Given the description of an element on the screen output the (x, y) to click on. 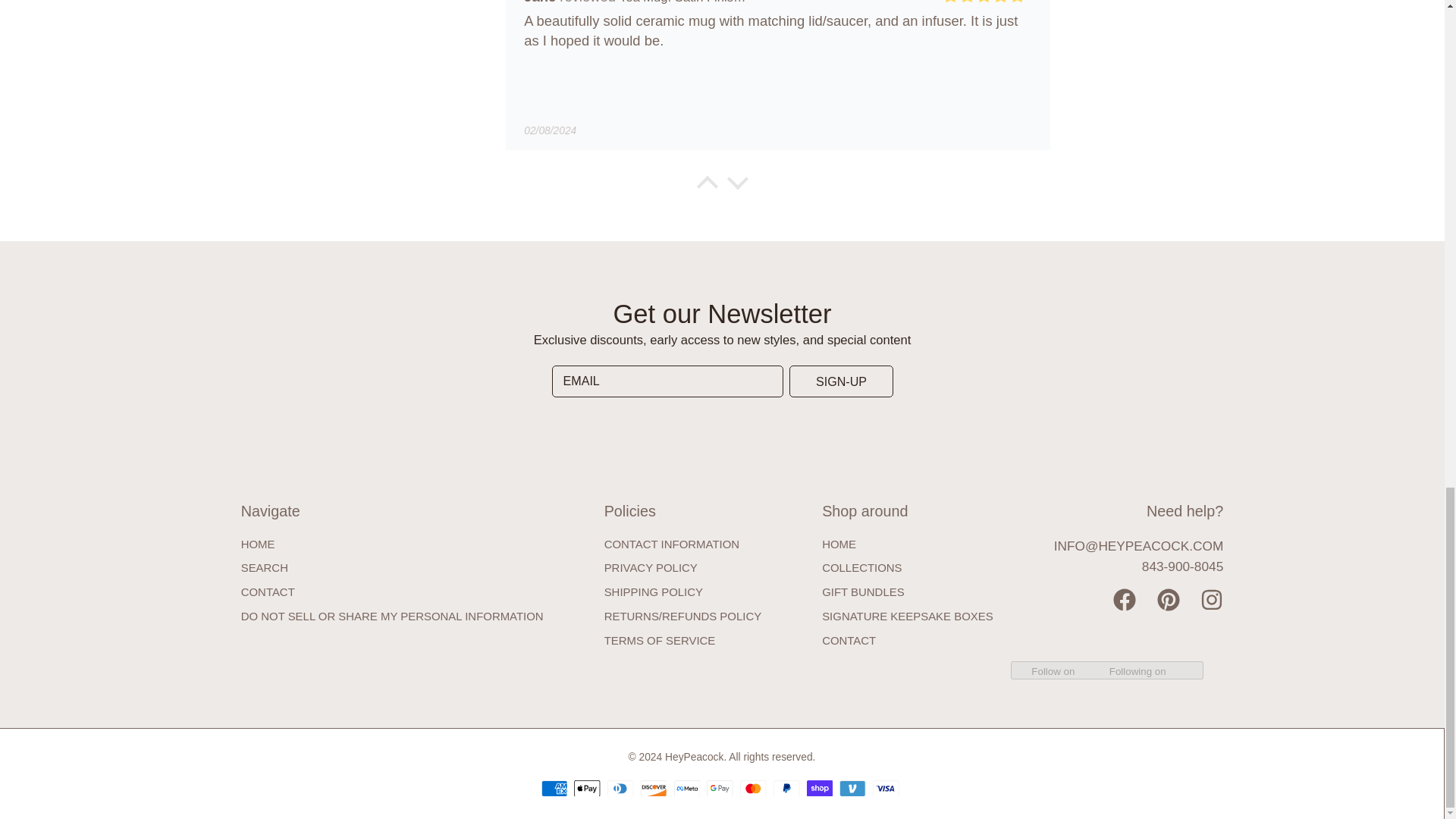
Venmo (853, 788)
Visa (885, 788)
Discover (653, 788)
PayPal (786, 788)
Apple Pay (586, 788)
Mastercard (752, 788)
Google Pay (719, 788)
Diners Club (620, 788)
Meta Pay (687, 788)
Shop Pay (819, 788)
American Express (554, 788)
